Given the description of an element on the screen output the (x, y) to click on. 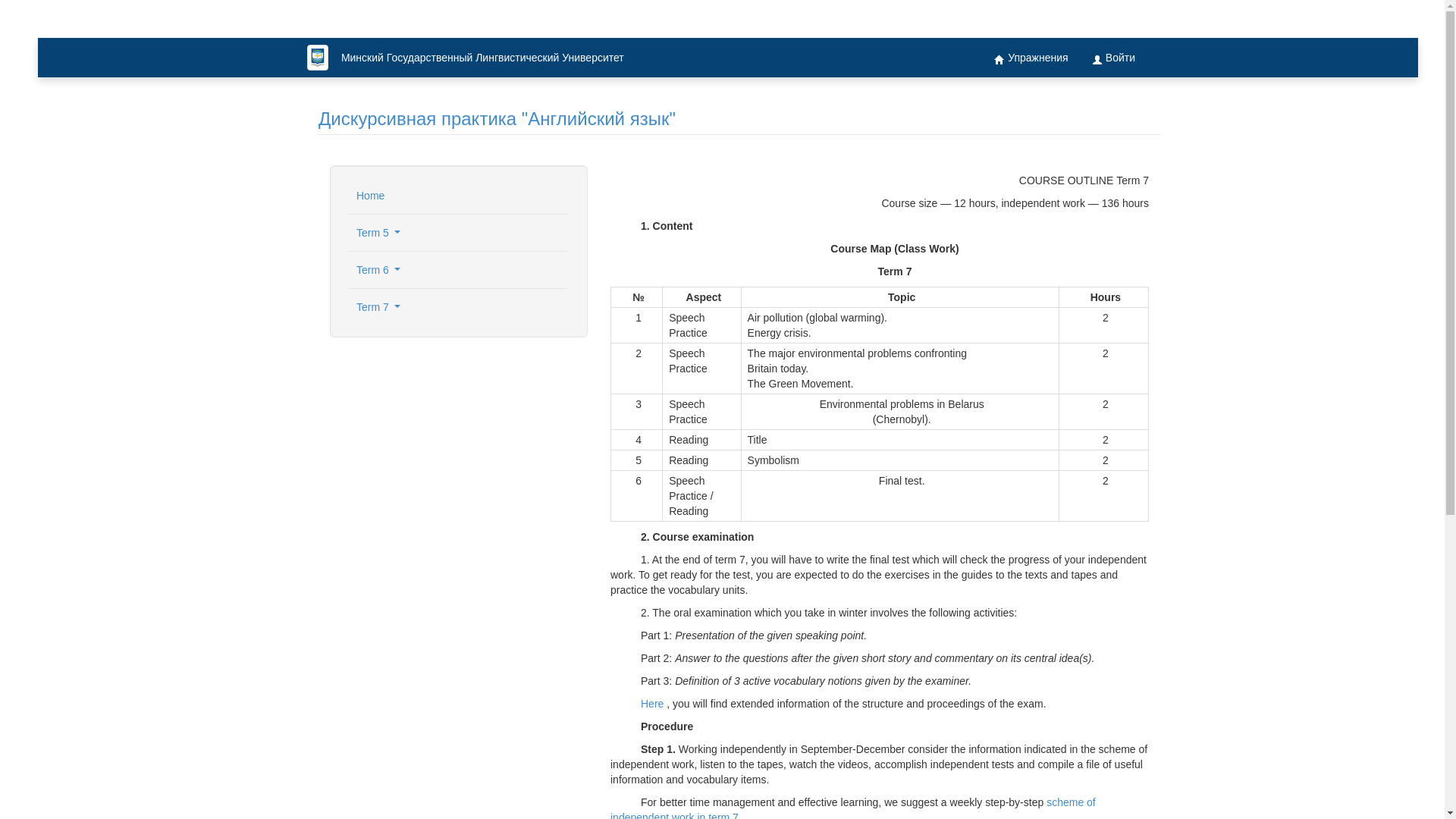
Home Element type: text (458, 195)
Term 5 Element type: text (458, 232)
Term 6 Element type: text (458, 269)
Term 7 Element type: text (458, 306)
Here Element type: text (653, 703)
